Given the description of an element on the screen output the (x, y) to click on. 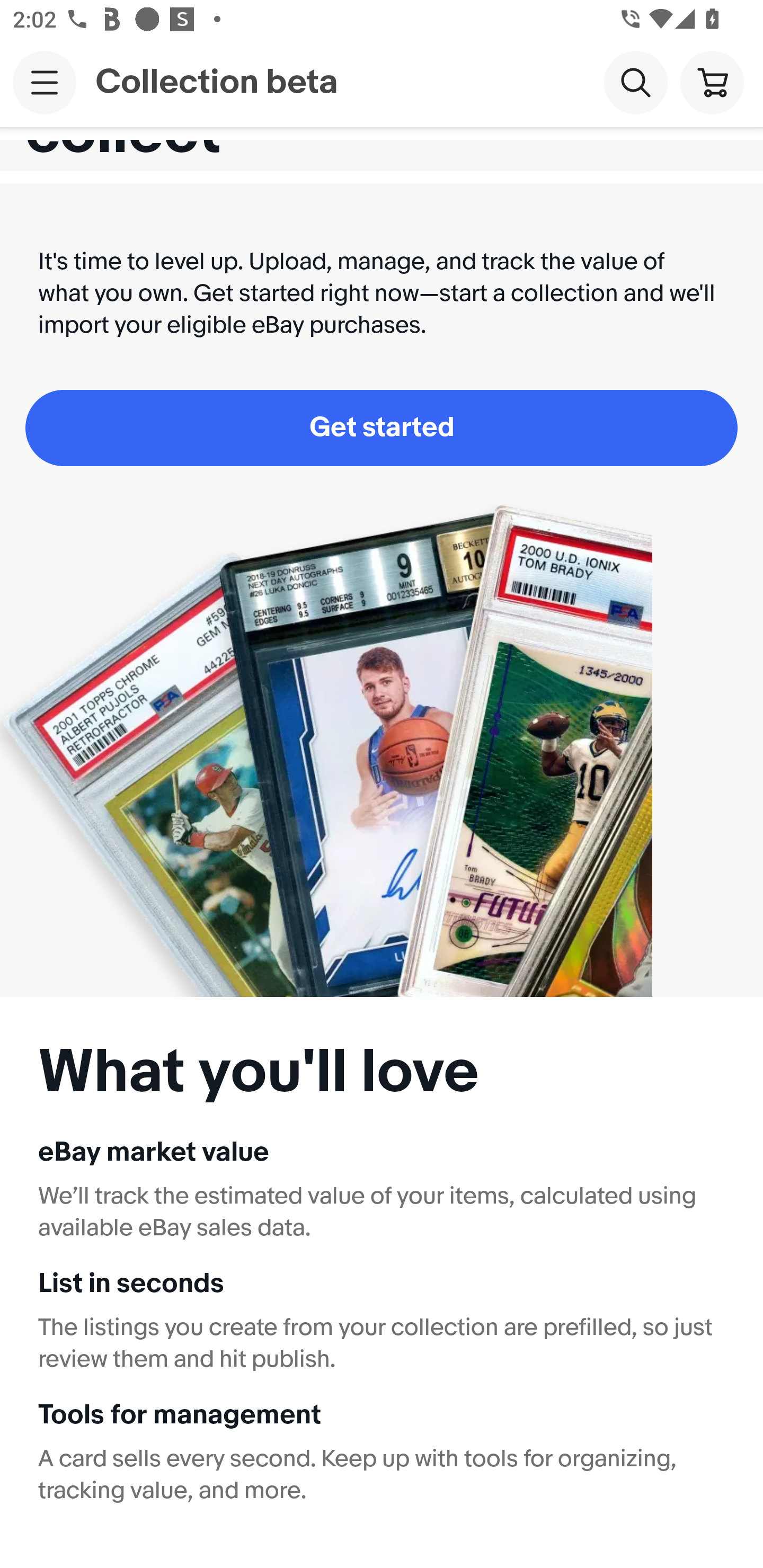
Main navigation, open (44, 82)
Search (635, 81)
Cart button shopping cart (711, 81)
Get started (381, 427)
